Given the description of an element on the screen output the (x, y) to click on. 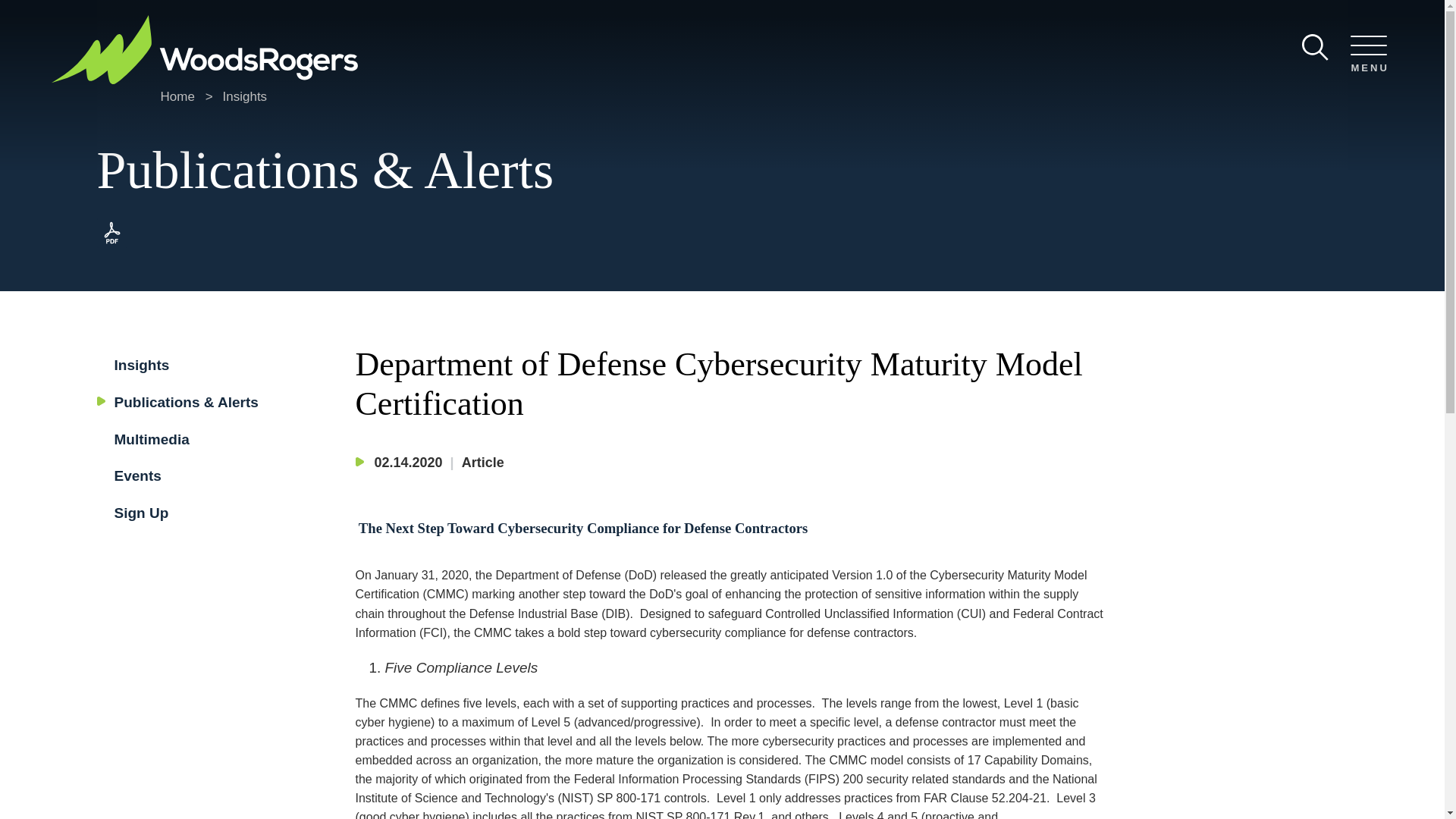
MENU (1367, 55)
Sign Up (140, 512)
Main Menu (680, 17)
Insights (244, 96)
Search (1314, 47)
PDF (112, 232)
Insights (140, 365)
Multimedia (151, 439)
Menu (1367, 55)
Print PDF (112, 243)
PDF (112, 243)
Events (136, 475)
Menu (680, 17)
Home (177, 96)
Main Content (674, 17)
